Given the description of an element on the screen output the (x, y) to click on. 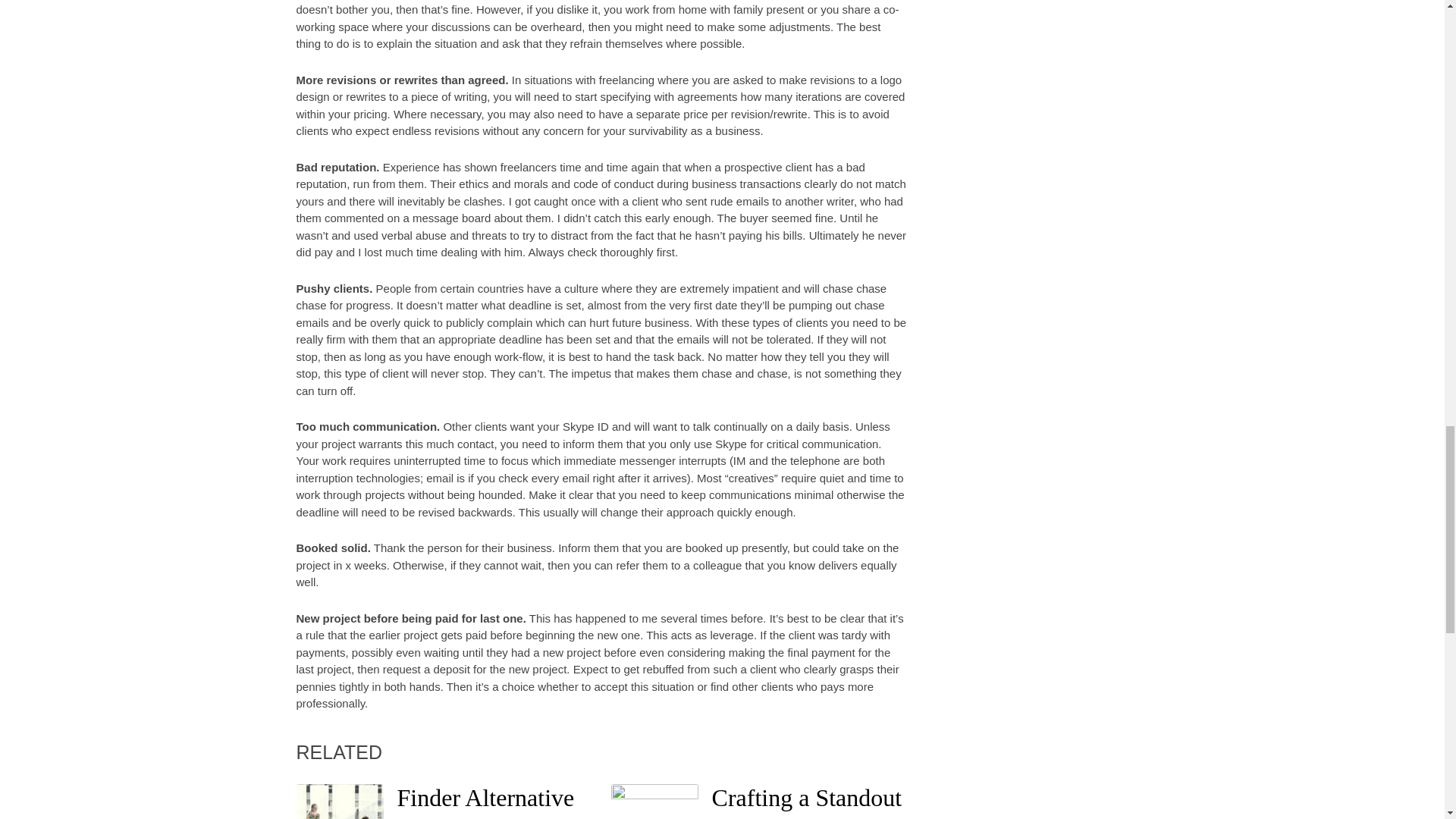
Finder Alternative With FTP Support (486, 801)
Finder Alternative With FTP Support (486, 801)
